Given the description of an element on the screen output the (x, y) to click on. 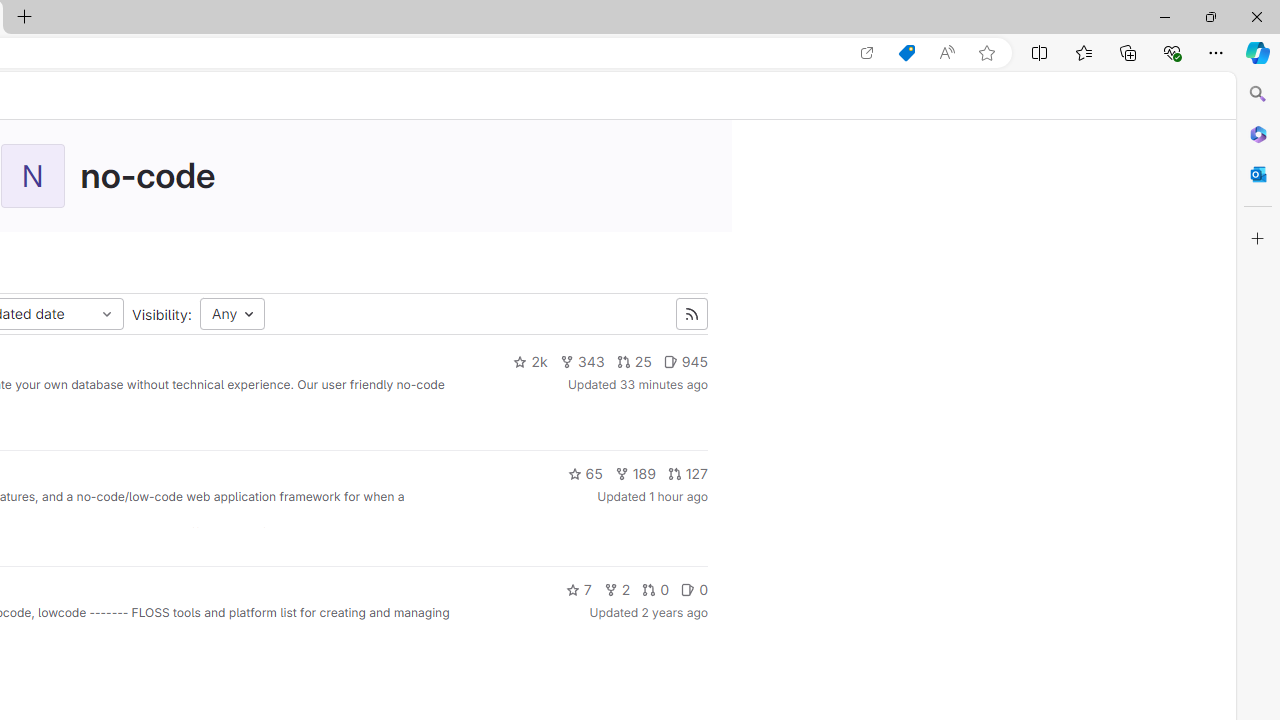
0 (693, 589)
2 (616, 589)
Class: s16 dropdown-menu-toggle-icon (106, 314)
7 (577, 589)
Class: s16 gl-icon gl-button-icon  (691, 314)
Open in app (867, 53)
65 (584, 473)
